Given the description of an element on the screen output the (x, y) to click on. 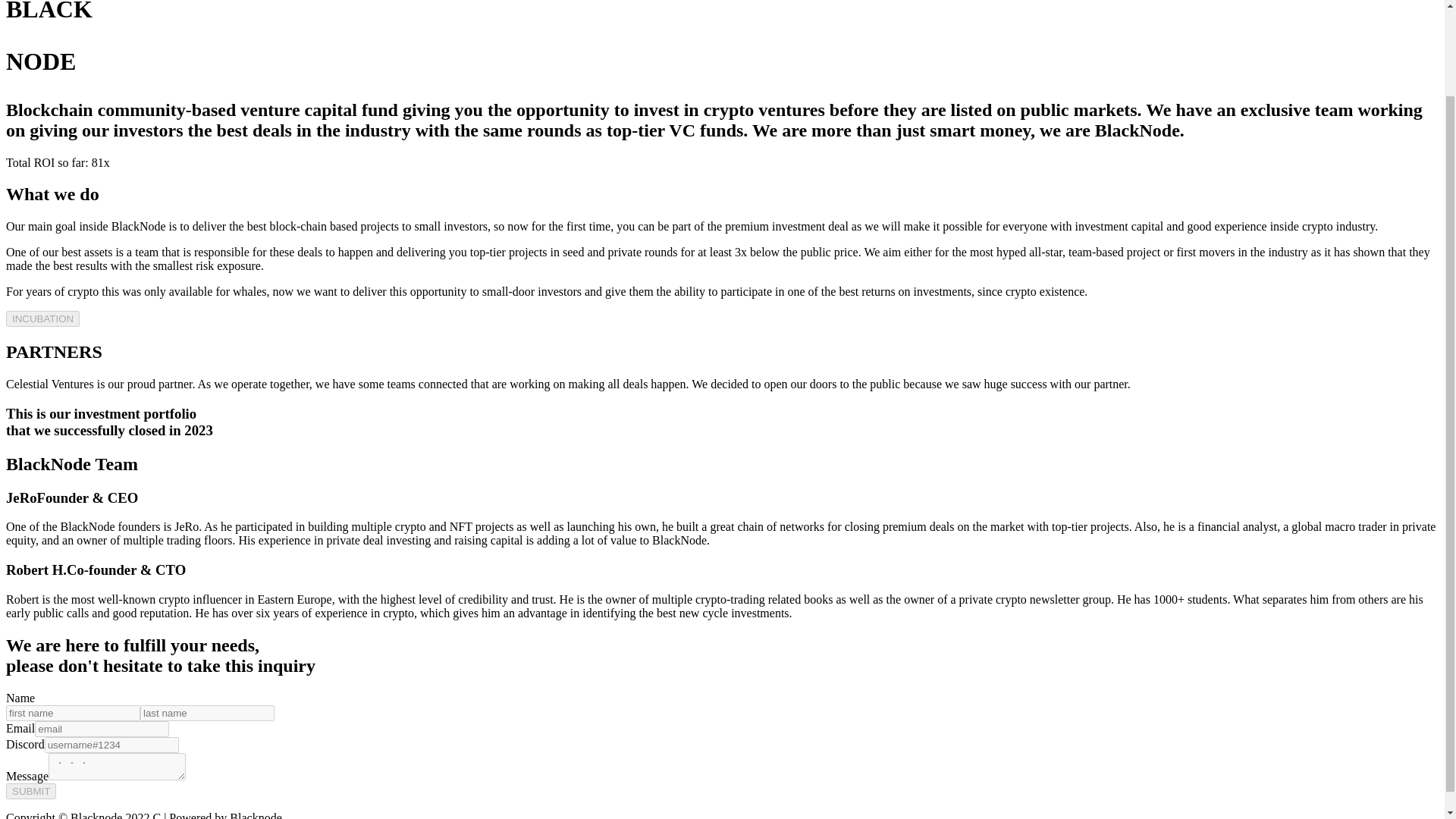
INCUBATION (42, 318)
SUBMIT (30, 790)
